Given the description of an element on the screen output the (x, y) to click on. 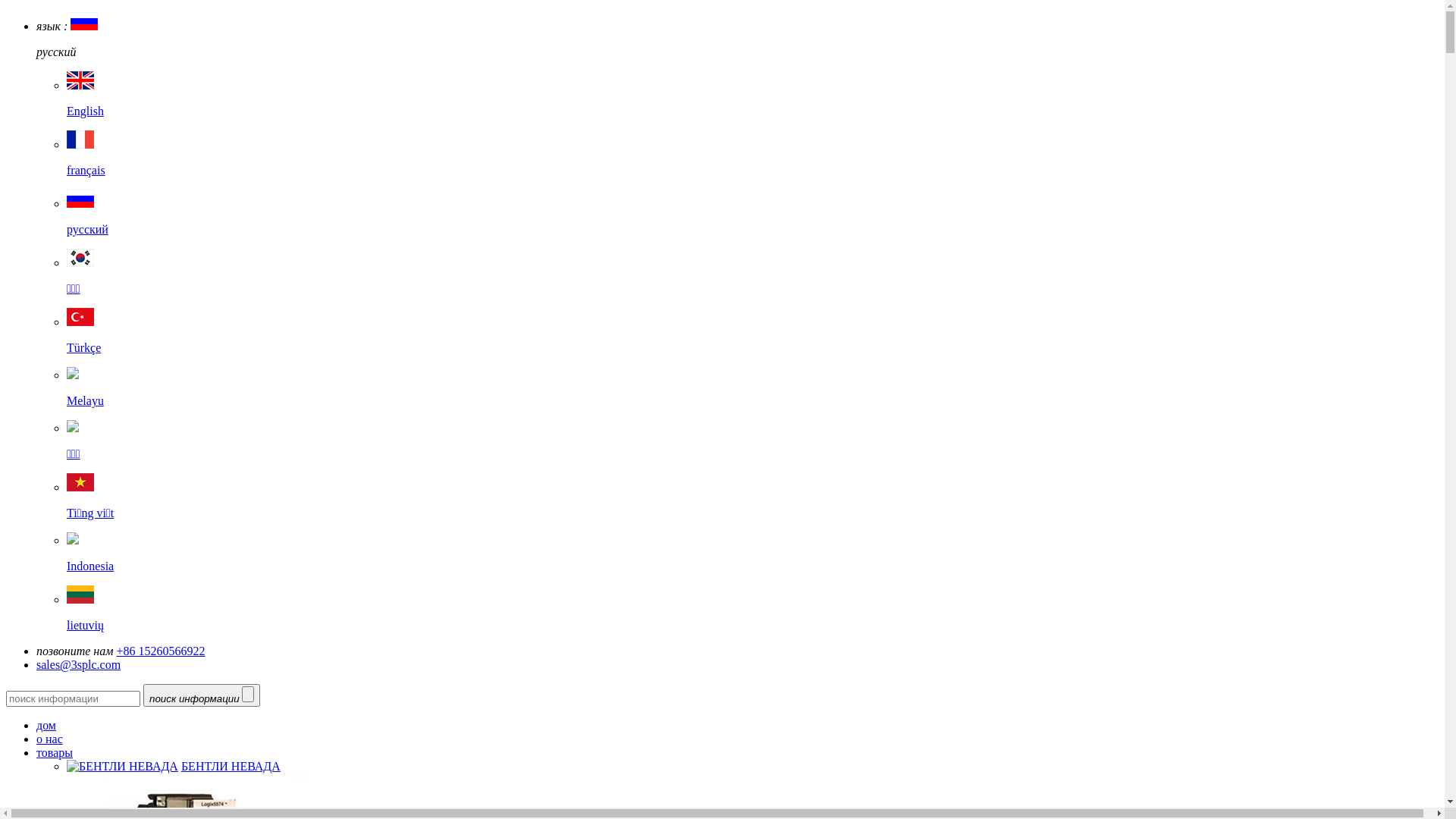
Indonesia Element type: text (752, 553)
Melayu Element type: text (752, 387)
English Element type: text (752, 98)
+86 15260566922 Element type: text (160, 650)
sales@3splc.com Element type: text (78, 664)
